Given the description of an element on the screen output the (x, y) to click on. 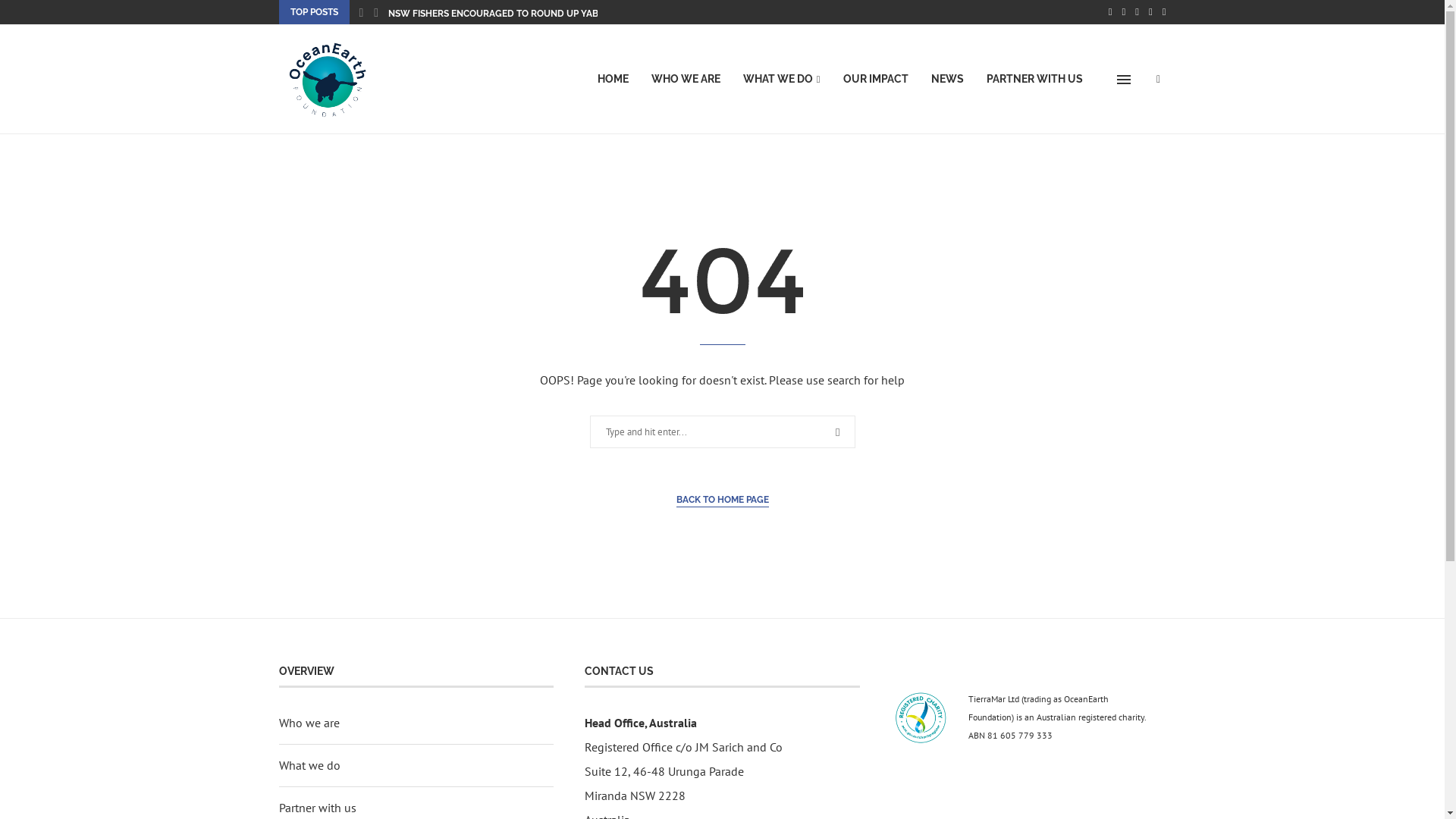
OUR IMPACT Element type: text (875, 79)
PARTNER WITH US Element type: text (1033, 79)
Partner with us Element type: text (317, 807)
Who we are Element type: text (309, 722)
OCEANEARTH FOUNDATION PARTNERS WITH SYDNEY ZOO TO HELP... Element type: text (539, 13)
NEWS Element type: text (947, 79)
WHAT WE DO Element type: text (781, 79)
Search Element type: text (35, 15)
WHO WE ARE Element type: text (685, 79)
BACK TO HOME PAGE Element type: text (722, 499)
HOME Element type: text (612, 79)
What we do Element type: text (309, 764)
